Given the description of an element on the screen output the (x, y) to click on. 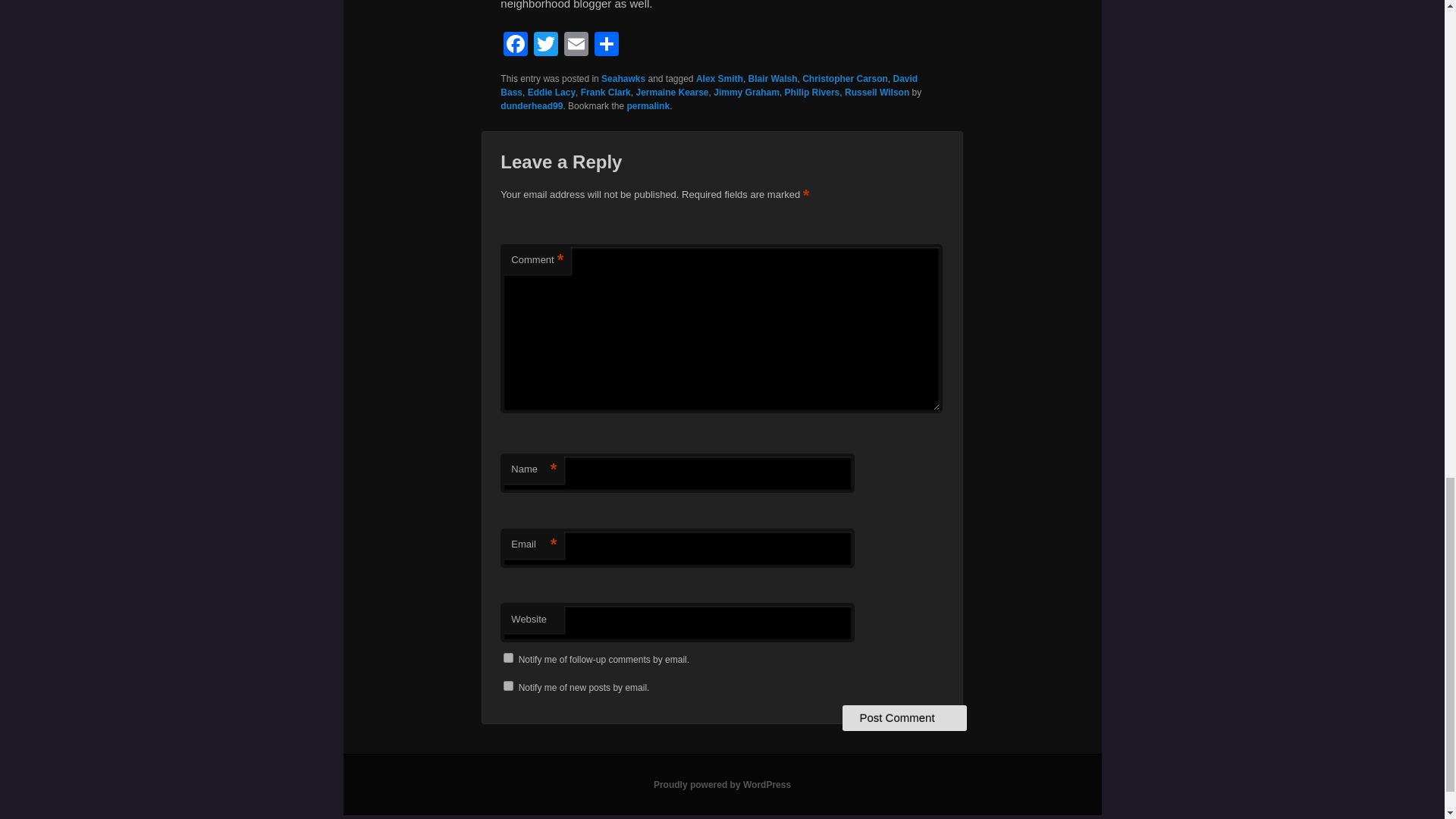
Facebook (515, 45)
Semantic Personal Publishing Platform (721, 784)
subscribe (508, 657)
subscribe (508, 685)
Post Comment (904, 718)
Email (575, 45)
Twitter (545, 45)
